Given the description of an element on the screen output the (x, y) to click on. 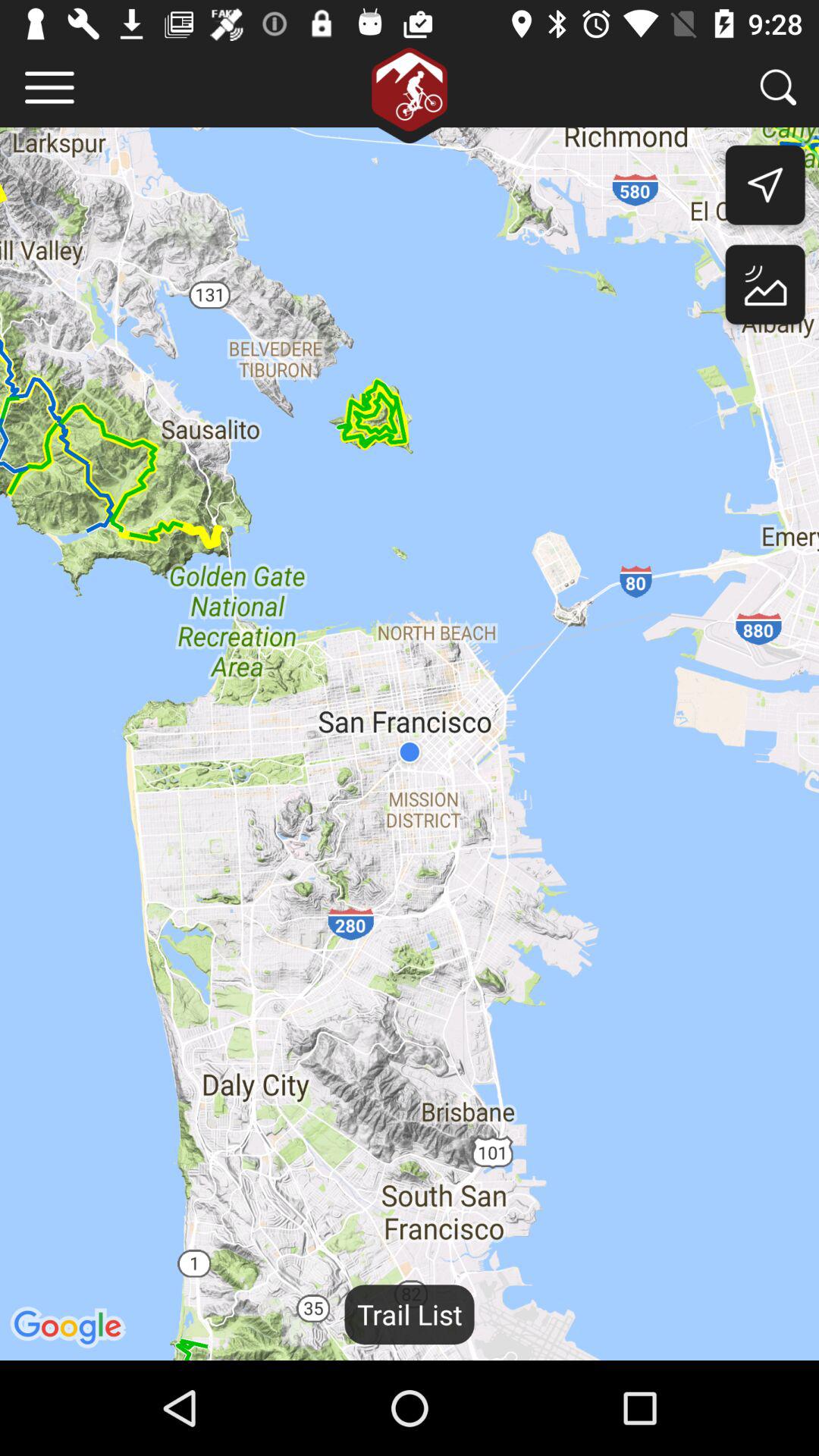
jump to the trail list (409, 1314)
